Given the description of an element on the screen output the (x, y) to click on. 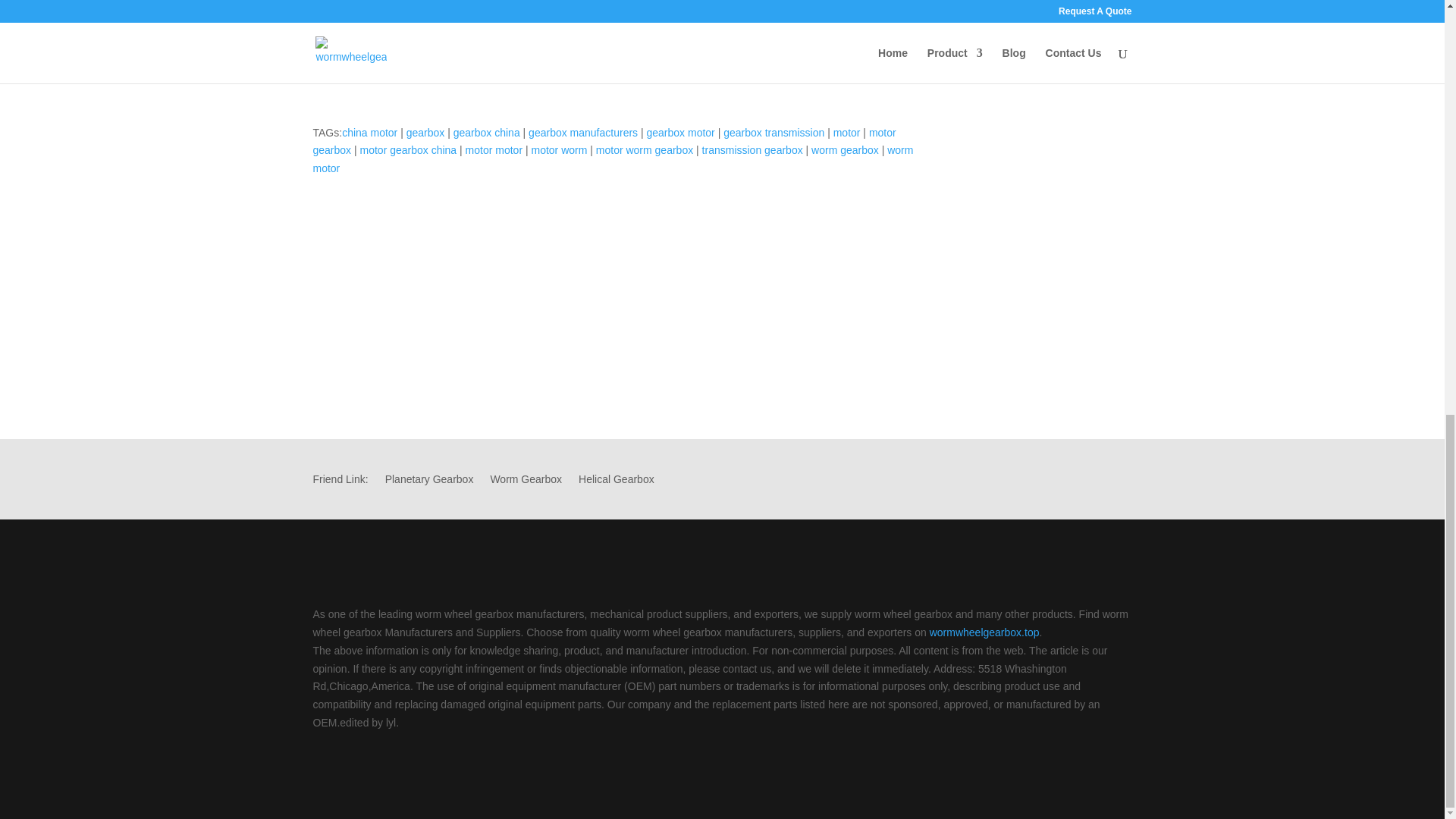
wormwheelgearbox.top (984, 632)
gearbox china (485, 132)
gearbox manufacturers (582, 132)
Helical Gearbox (615, 482)
china motor (369, 132)
motor (846, 132)
worm motor (612, 159)
motor worm (558, 150)
Friend Link: (340, 482)
Planetary Gearbox (429, 482)
